Given the description of an element on the screen output the (x, y) to click on. 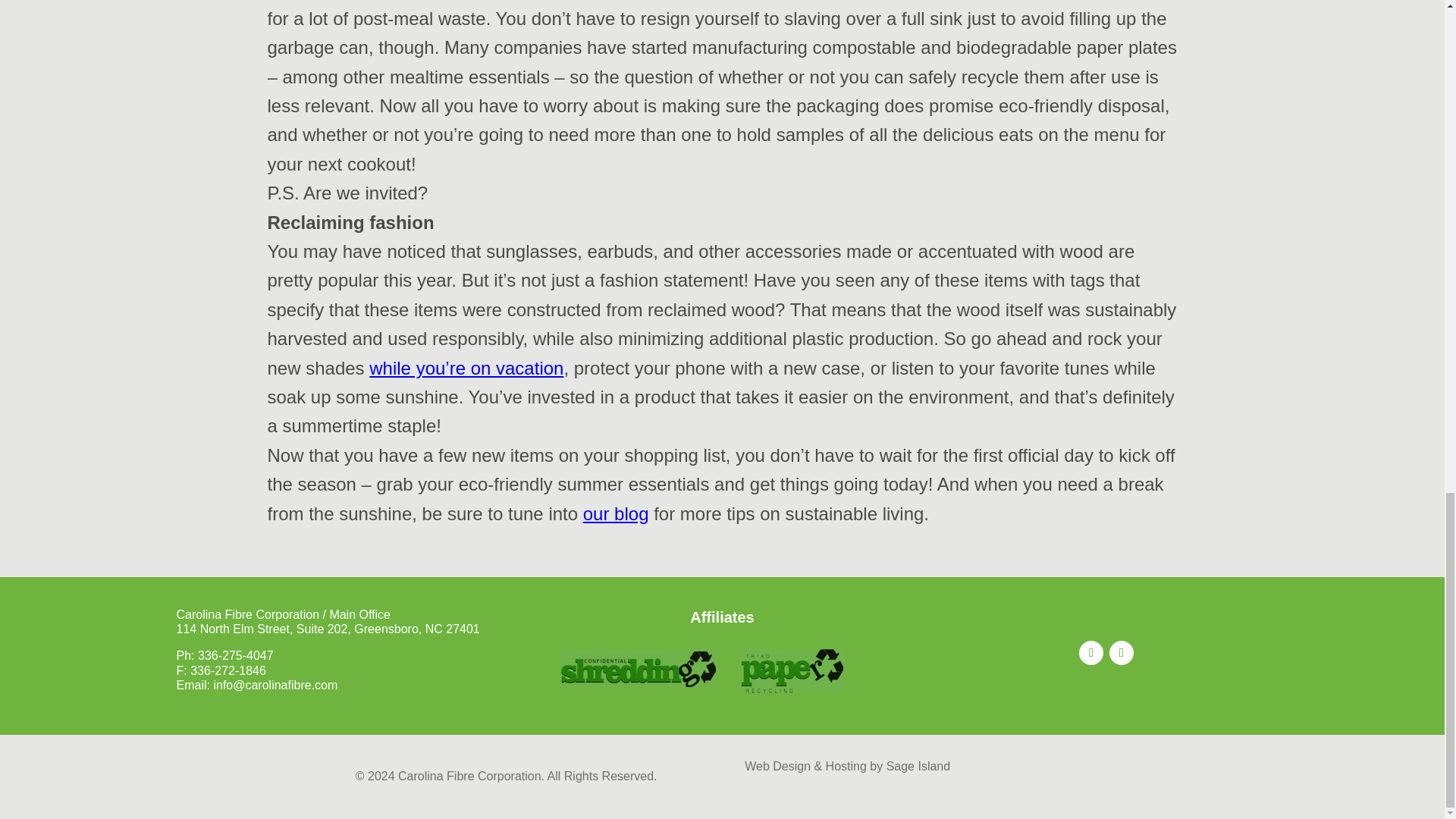
336-272-1846 (228, 674)
336-275-4047 (235, 659)
our blog (616, 513)
Follow on Facebook (1090, 652)
Follow on LinkedIn (1121, 652)
